Given the description of an element on the screen output the (x, y) to click on. 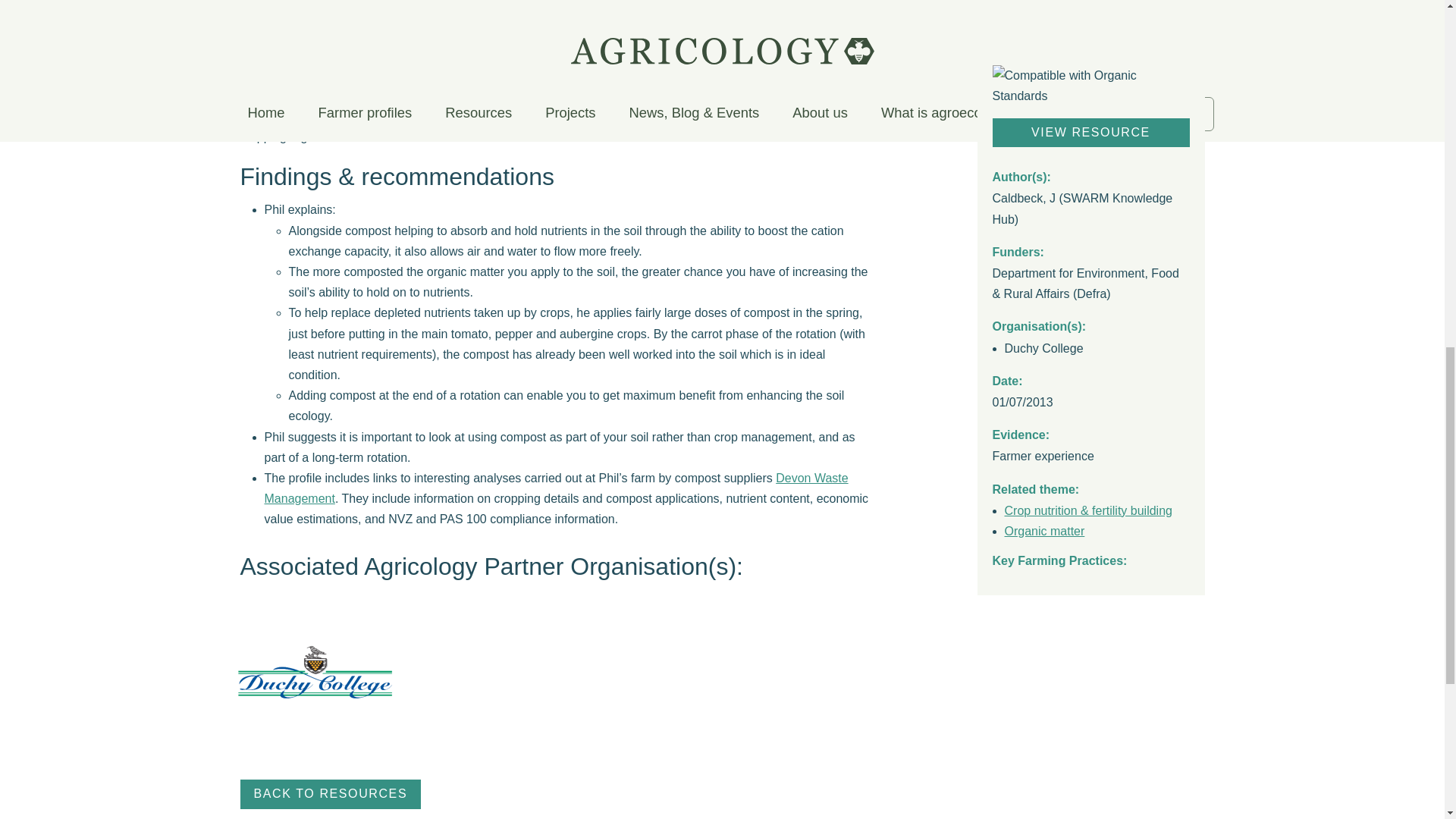
BACK TO RESOURCES (330, 794)
Devon Waste Management (555, 488)
Organic matter (1044, 348)
